Given the description of an element on the screen output the (x, y) to click on. 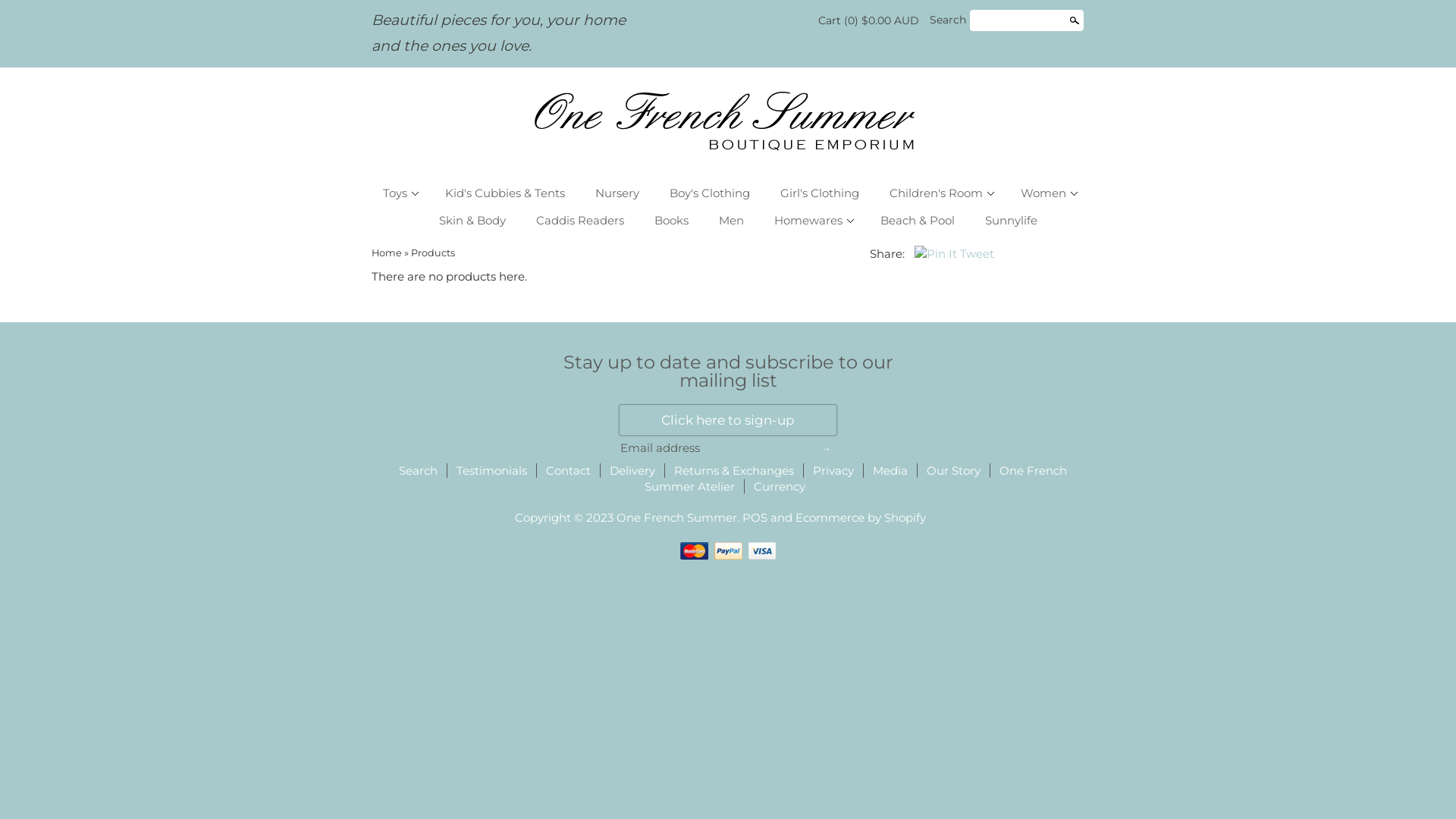
One French Summer. Element type: text (679, 517)
Sunnylife Element type: text (1011, 220)
Cart (0) $0.00 AUD Element type: text (868, 20)
Click here to sign-up Element type: text (727, 419)
Products Element type: text (433, 252)
Returns & Exchanges Element type: text (733, 470)
Privacy Element type: text (832, 470)
Testimonials Element type: text (491, 470)
Girl's Clothing Element type: text (819, 193)
Children's Room Element type: text (939, 193)
Beach & Pool Element type: text (917, 220)
POS Element type: text (754, 517)
Contact Element type: text (568, 470)
Books Element type: text (671, 220)
Ecommerce by Shopify Element type: text (860, 517)
One French Summer Atelier Element type: text (855, 478)
Tweet Element type: text (977, 253)
Media Element type: text (889, 470)
Currency Element type: text (779, 486)
Home Element type: text (386, 252)
Our Story Element type: text (953, 470)
One French Summer Element type: hover (727, 117)
Search Element type: text (417, 470)
Boy's Clothing Element type: text (709, 193)
Kid's Cubbies & Tents Element type: text (504, 193)
Homewares Element type: text (811, 220)
Men Element type: text (730, 220)
Toys Element type: text (398, 193)
Nursery Element type: text (617, 193)
Skin & Body Element type: text (472, 220)
Women Element type: text (1046, 193)
Pin It Element type: hover (935, 253)
Delivery Element type: text (632, 470)
Caddis Readers Element type: text (579, 220)
